Given the description of an element on the screen output the (x, y) to click on. 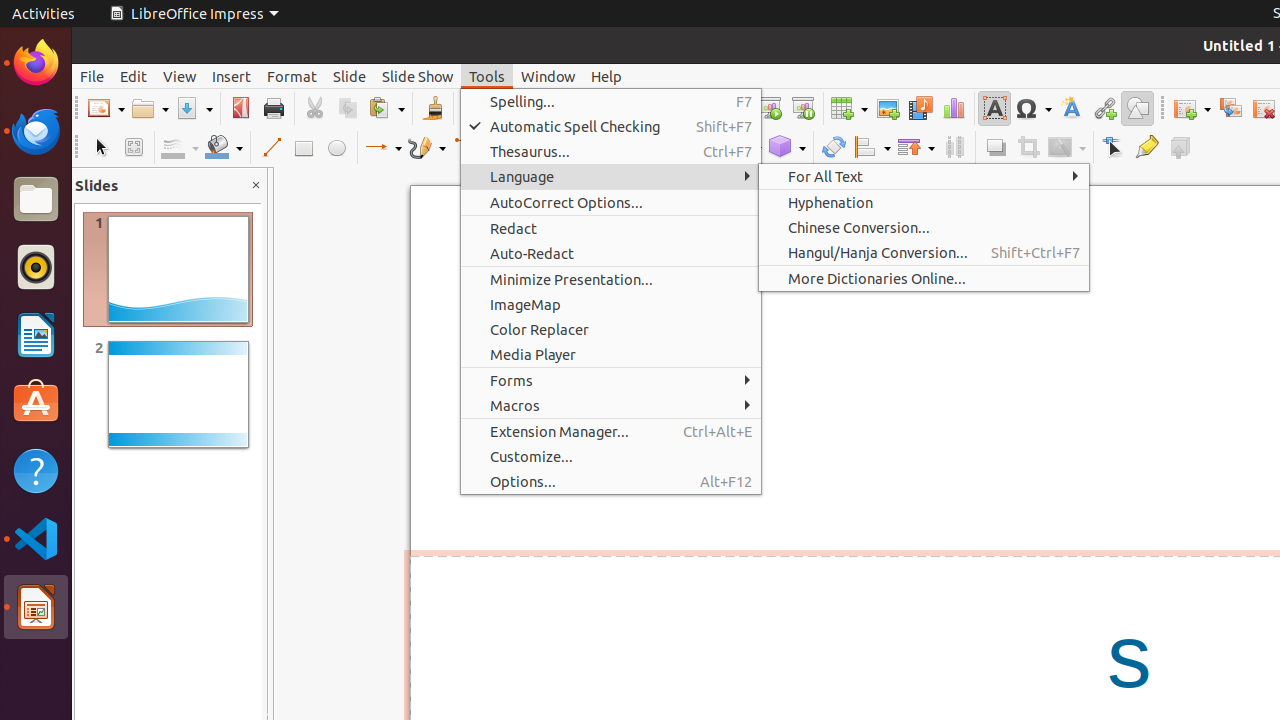
File Element type: menu (92, 76)
Thunderbird Mail Element type: push-button (36, 131)
Visual Studio Code Element type: push-button (36, 538)
Extension Manager... Element type: menu-item (611, 431)
Macros Element type: menu (611, 405)
